Given the description of an element on the screen output the (x, y) to click on. 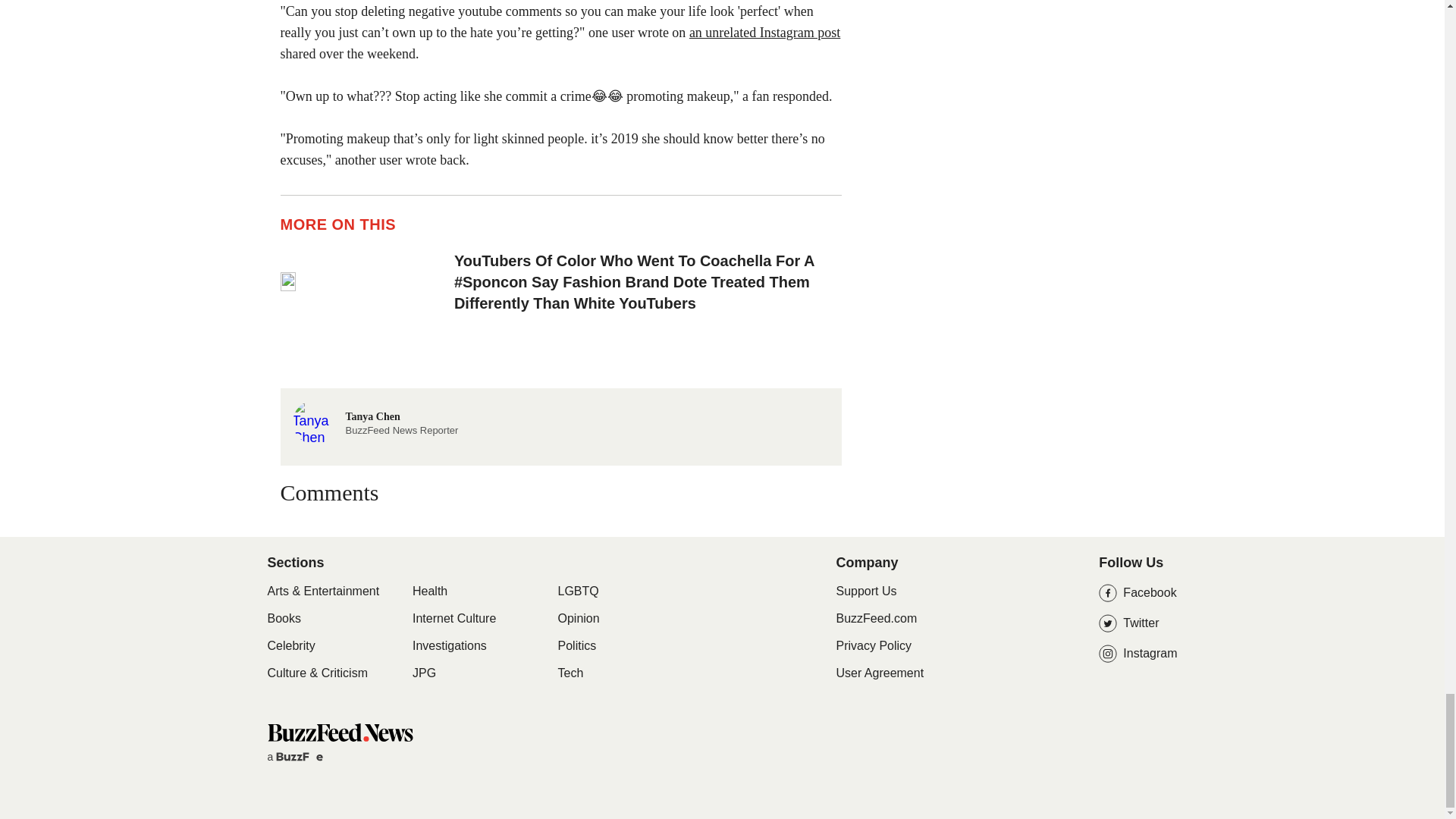
Books (282, 695)
instagram.com (312, 4)
Health (429, 668)
an unrelated Instagram post (764, 109)
Celebrity (290, 723)
